Given the description of an element on the screen output the (x, y) to click on. 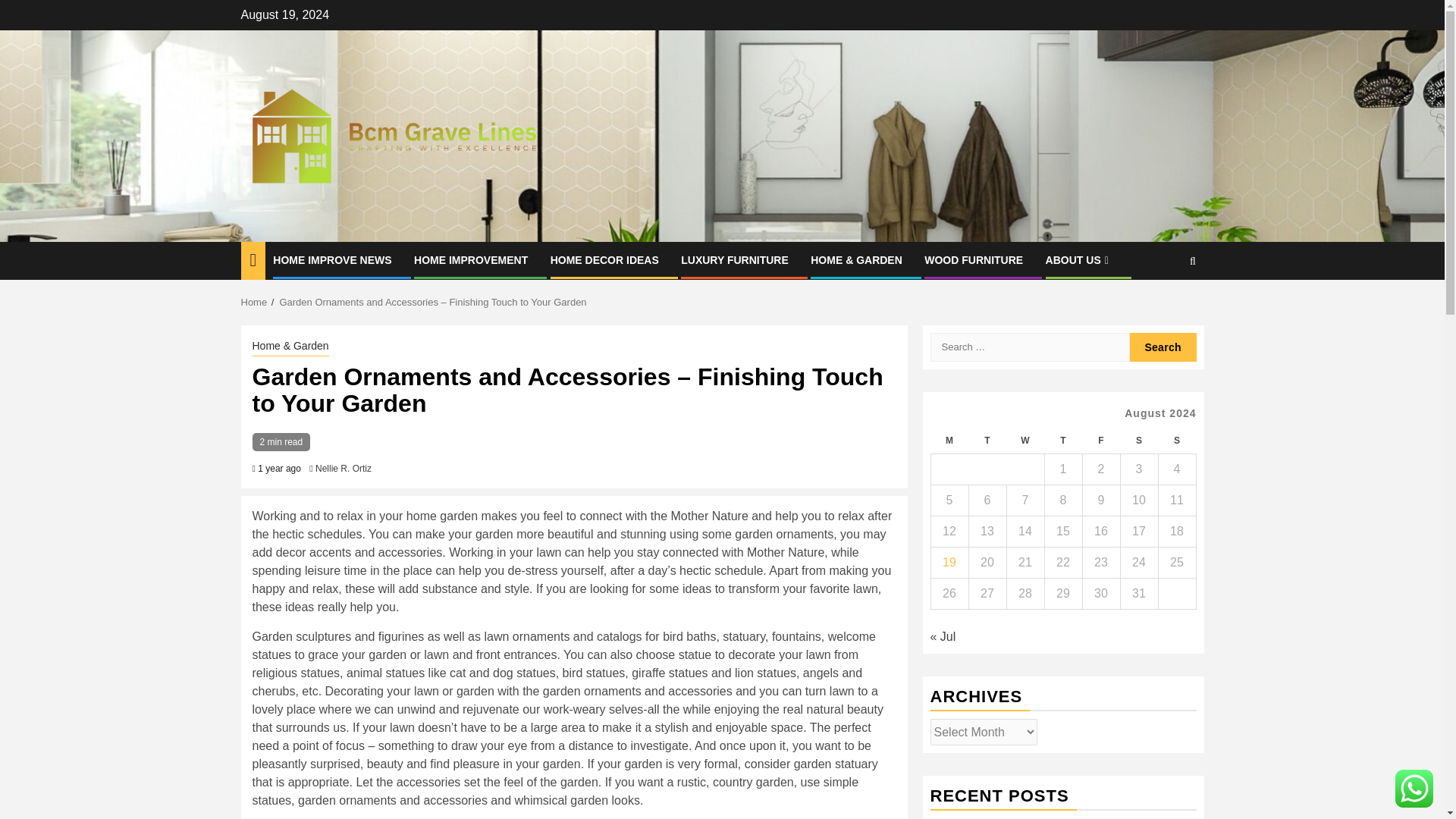
Wednesday (1024, 440)
WOOD FURNITURE (973, 259)
Saturday (1138, 440)
HOME DECOR IDEAS (604, 259)
Thursday (1062, 440)
ABOUT US (1078, 259)
Monday (949, 440)
Search (1162, 346)
HOME IMPROVE NEWS (332, 259)
LUXURY FURNITURE (735, 259)
